Given the description of an element on the screen output the (x, y) to click on. 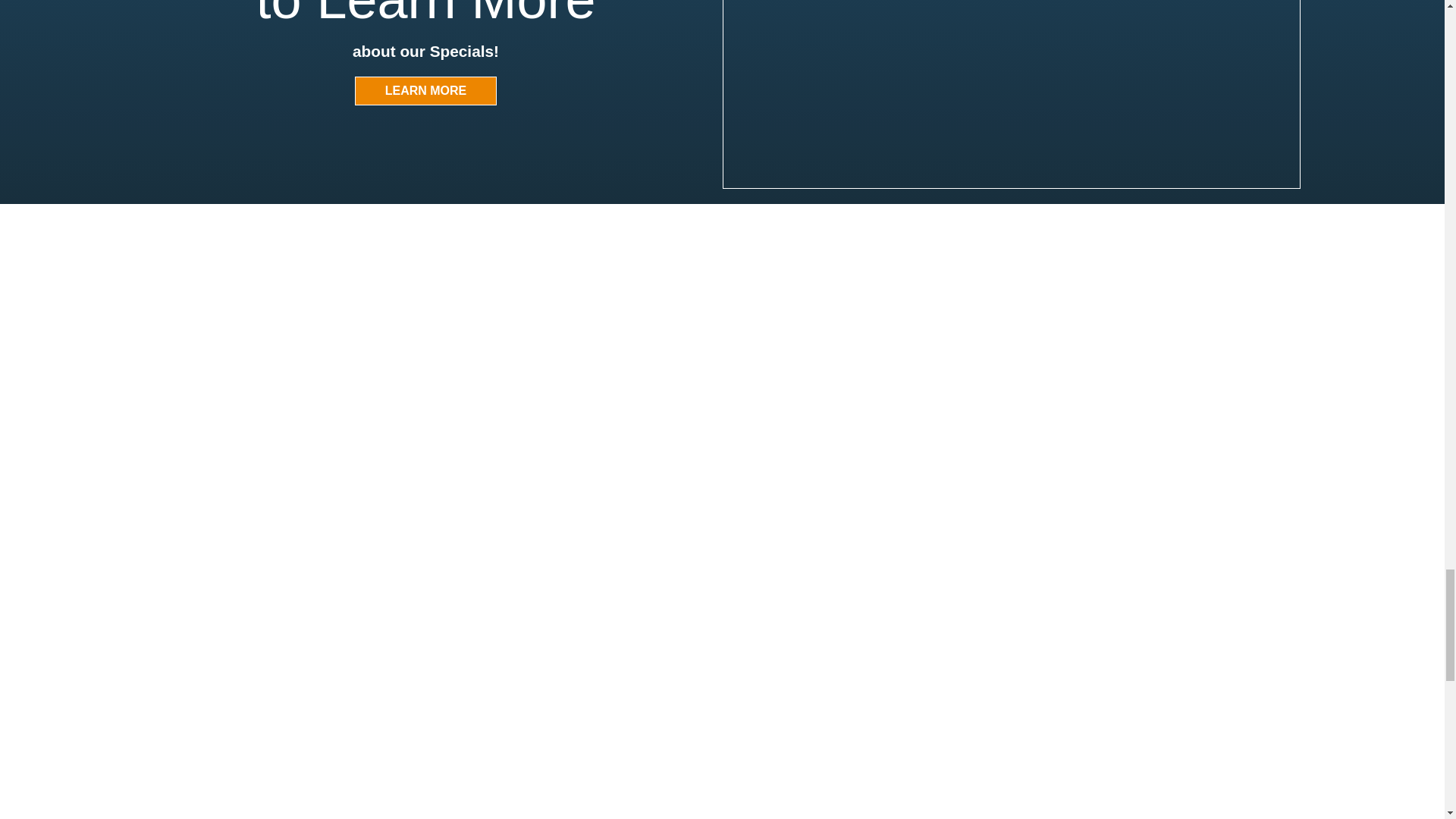
LEARN MORE (425, 90)
